Given the description of an element on the screen output the (x, y) to click on. 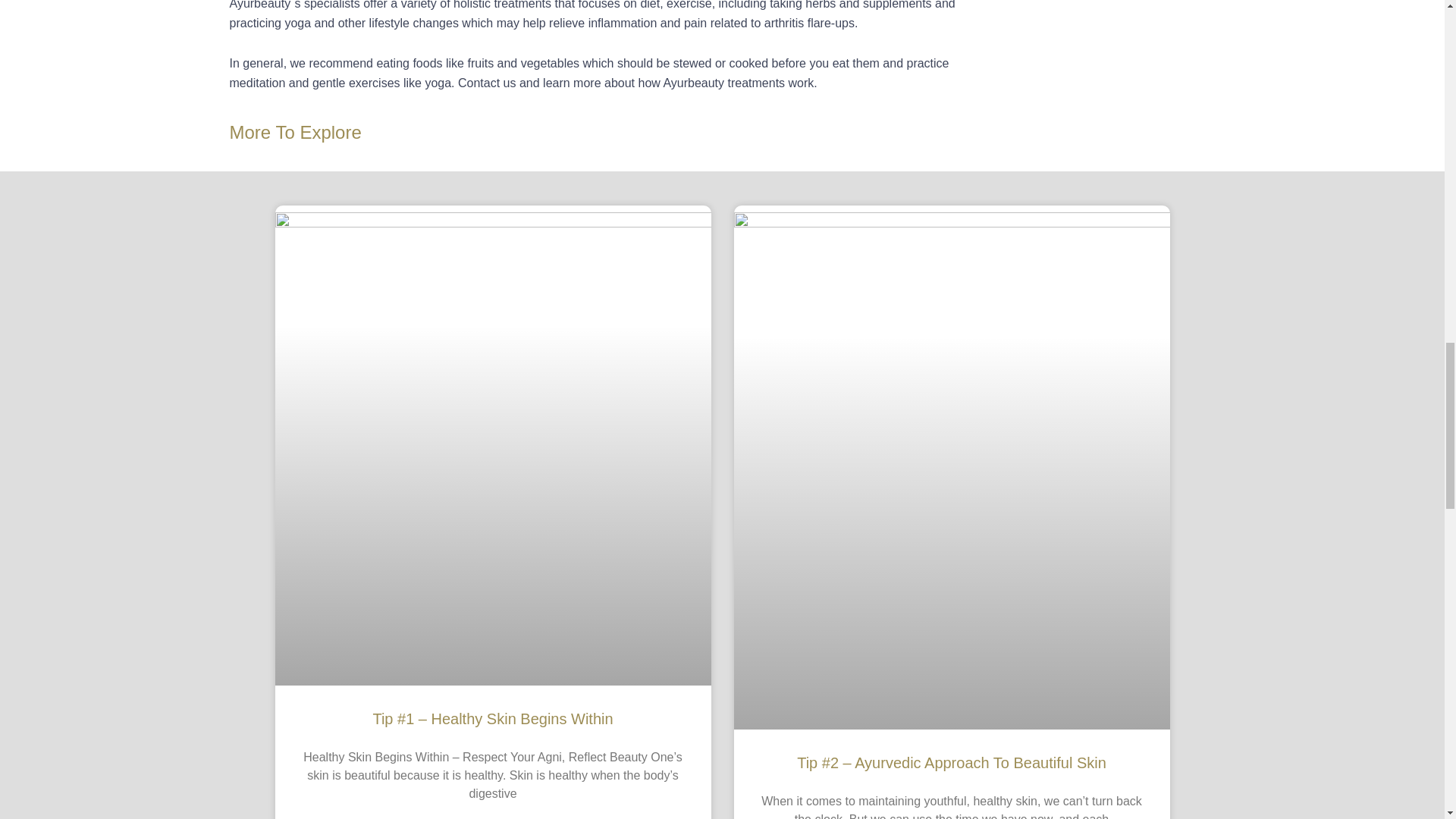
More To Explore (294, 131)
